Given the description of an element on the screen output the (x, y) to click on. 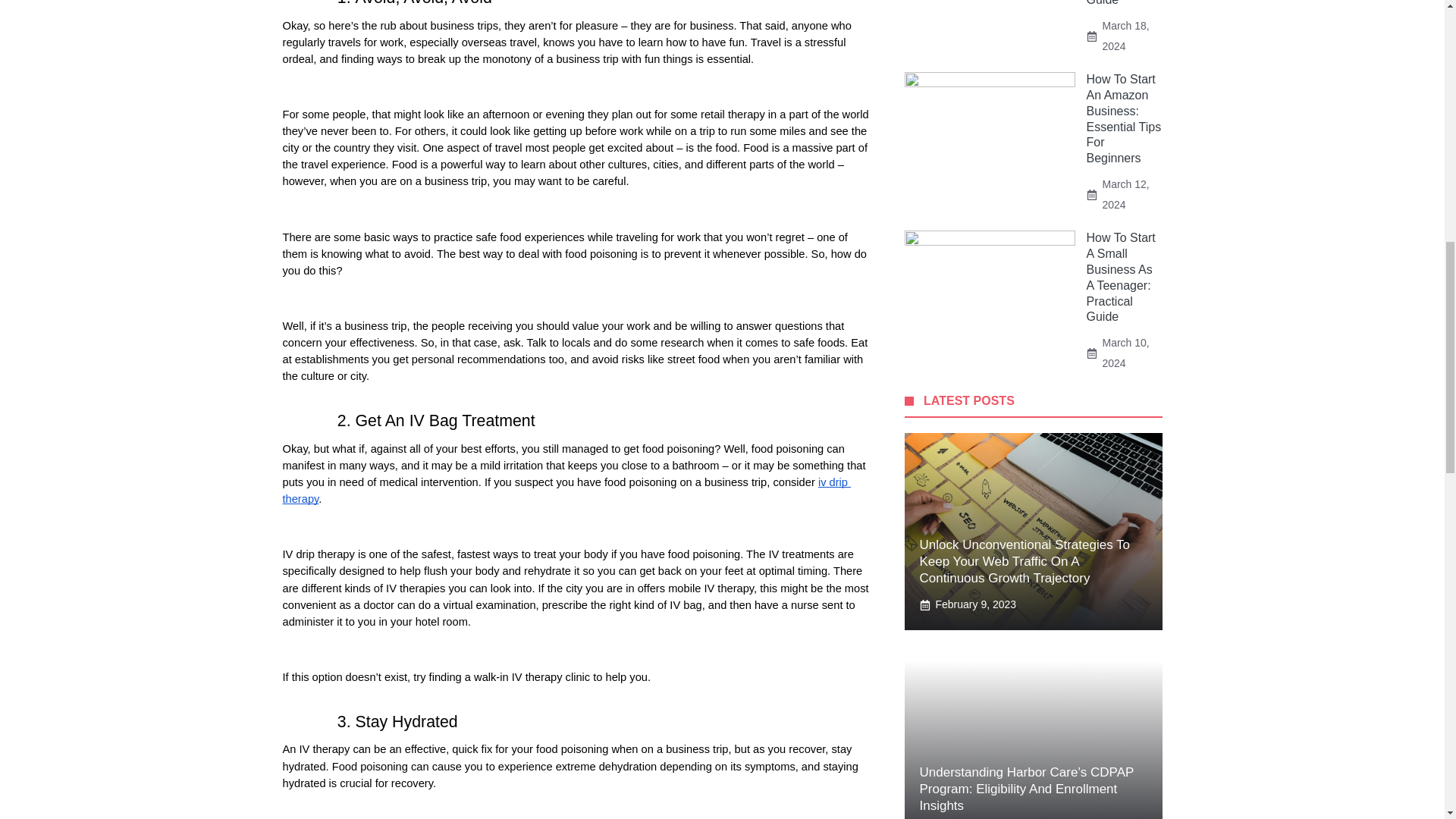
How to Start a Dance Studio: Your Step-by-Step Success Guide (1121, 2)
Scroll back to top (1406, 720)
iv drip therapy (566, 490)
